Given the description of an element on the screen output the (x, y) to click on. 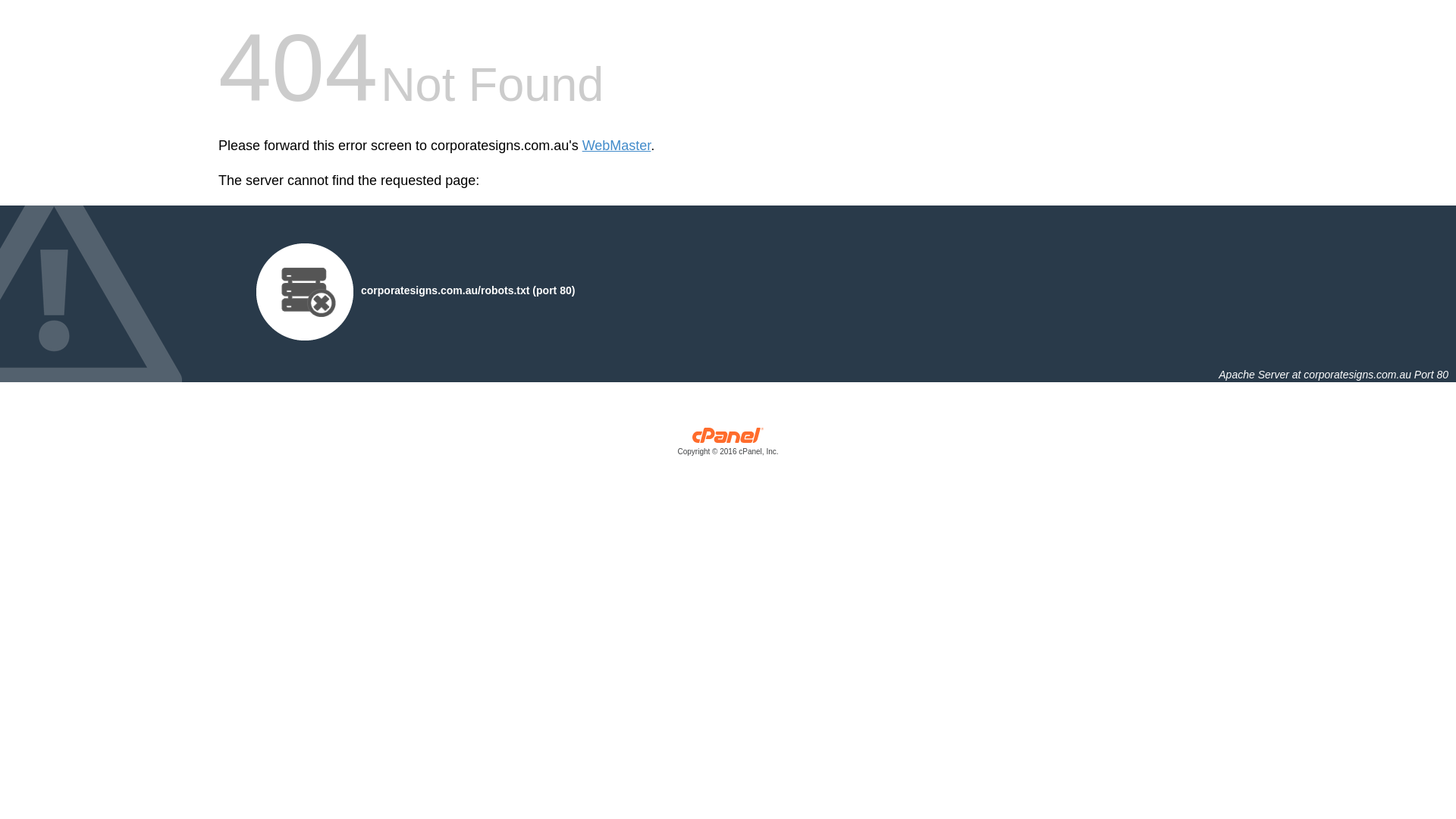
WebMaster Element type: text (616, 145)
